Given the description of an element on the screen output the (x, y) to click on. 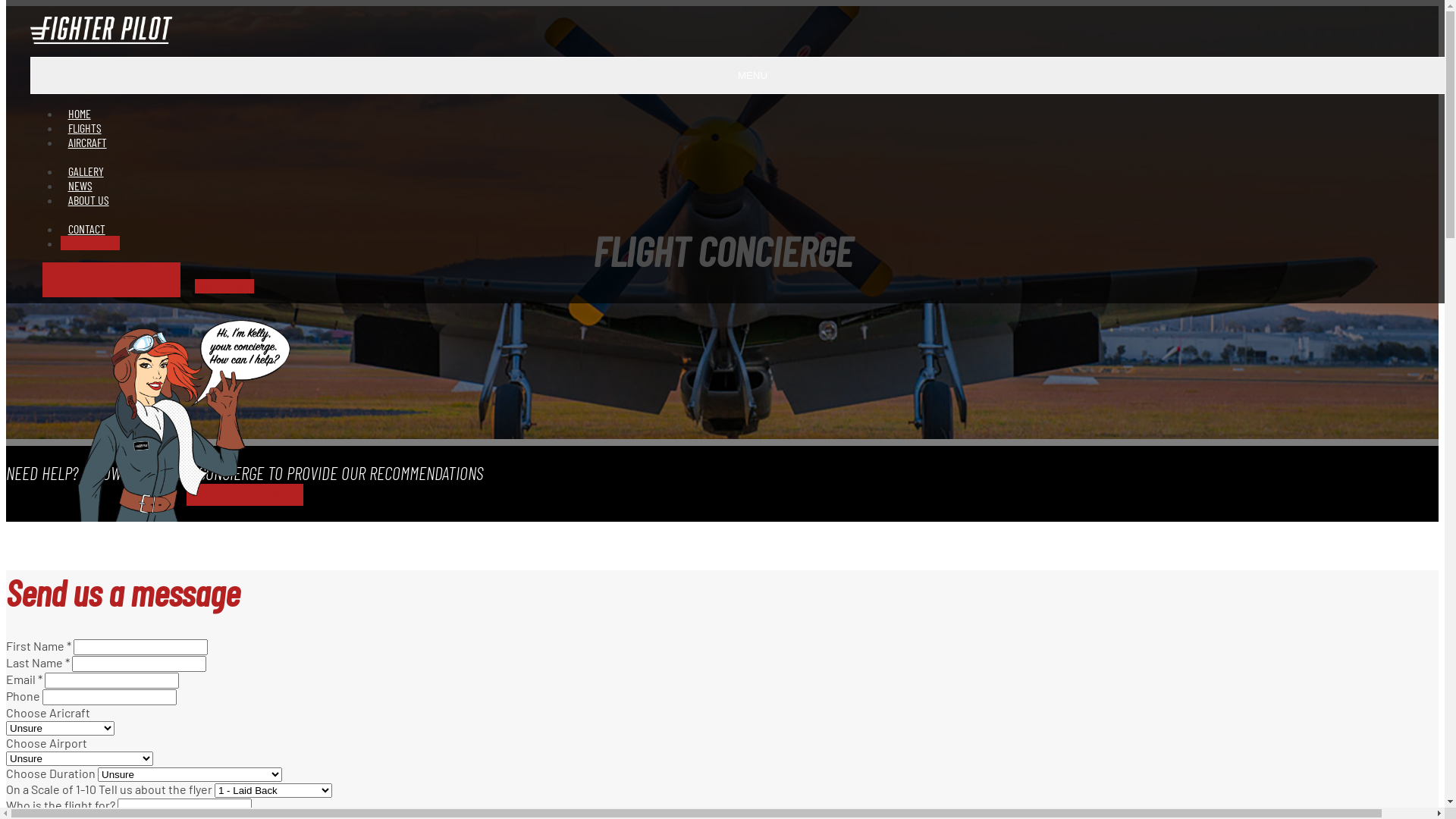
ABOUT US Element type: text (88, 199)
AIRCRAFT Element type: text (86, 141)
HOME Element type: text (78, 113)
ENQUIRE NOW Element type: text (244, 494)
CONTACT Element type: text (86, 228)
CALL NOW Element type: text (111, 279)
NEWS Element type: text (79, 185)
BOOK NOW Element type: text (89, 242)
FLIGHTS Element type: text (84, 127)
GALLERY Element type: text (85, 170)
BOOK NOW Element type: text (224, 286)
